Given the description of an element on the screen output the (x, y) to click on. 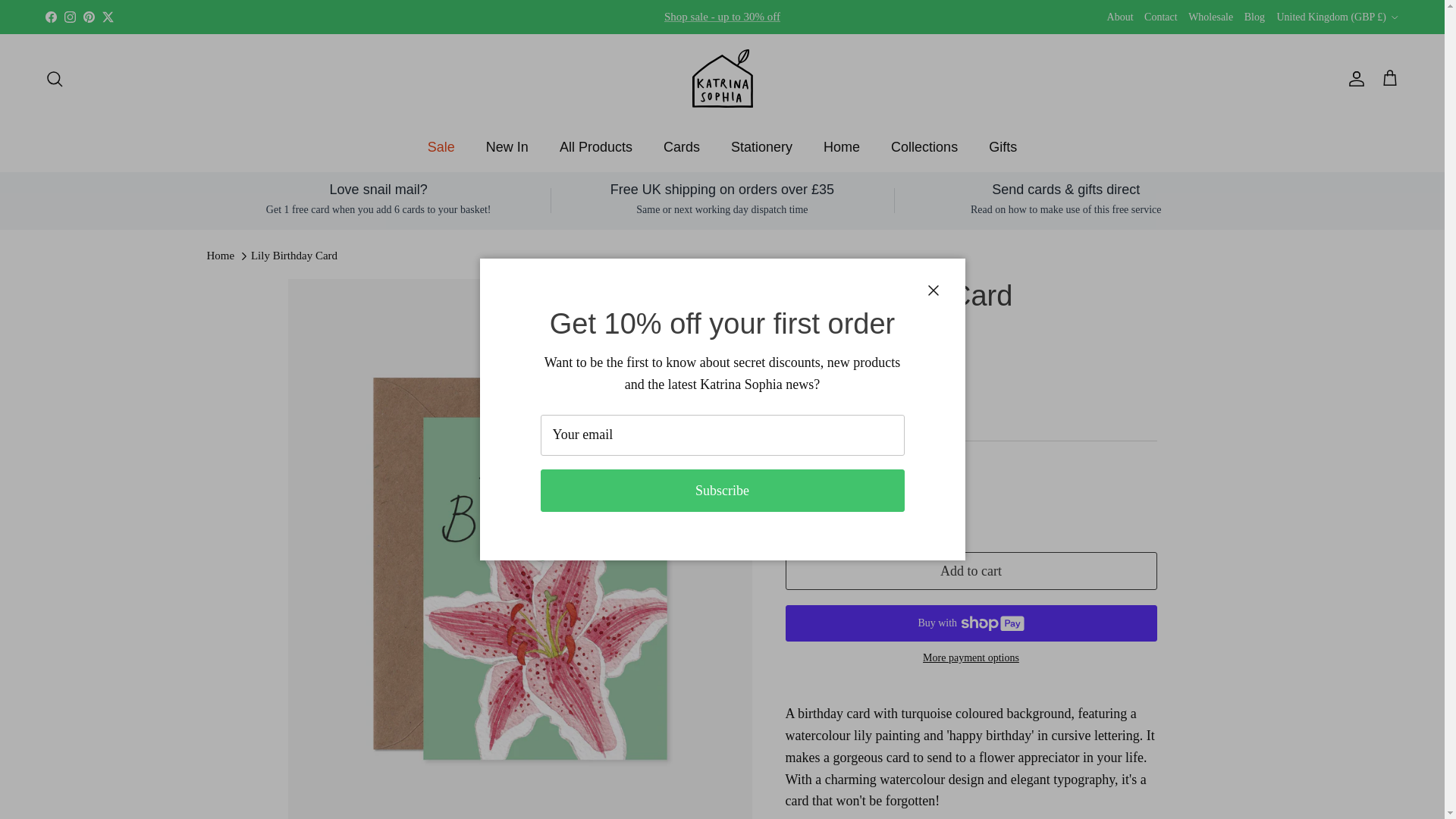
Search (54, 78)
Contact (1160, 17)
Sale (721, 16)
About (1120, 17)
Twitter (107, 16)
Sale (440, 147)
Wholesale (1210, 17)
Instagram (69, 16)
Katrina Sophia on Facebook (50, 16)
Cart (1389, 77)
Pinterest (88, 16)
Katrina Sophia on Twitter (107, 16)
1 (847, 503)
Katrina Sophia (721, 78)
New In (506, 147)
